Given the description of an element on the screen output the (x, y) to click on. 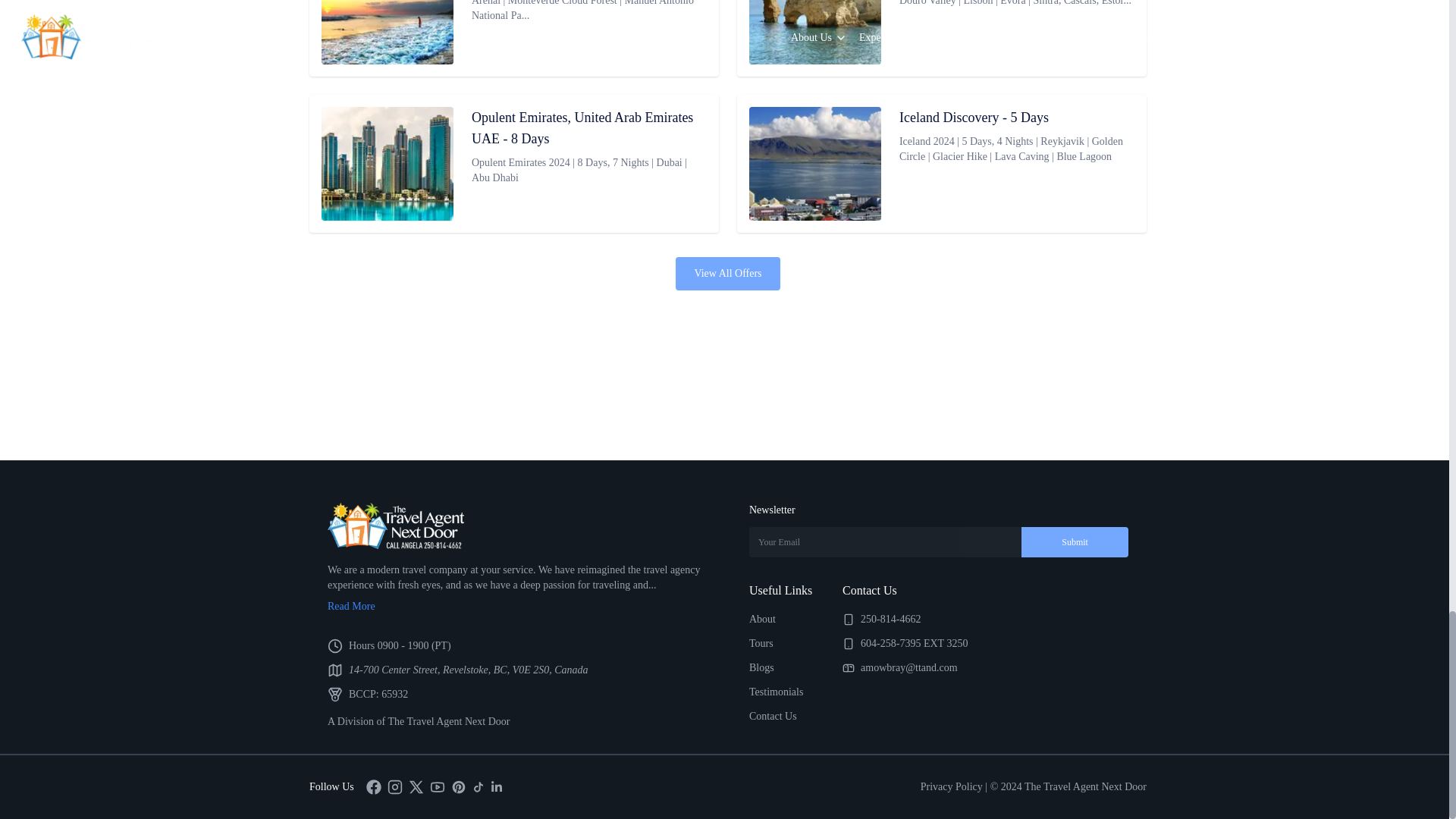
Contact Us (772, 715)
About (762, 618)
Read More (516, 606)
View All Offers (726, 273)
Submit (1075, 542)
Tours (761, 643)
Blogs (761, 667)
Testimonials (776, 691)
